Given the description of an element on the screen output the (x, y) to click on. 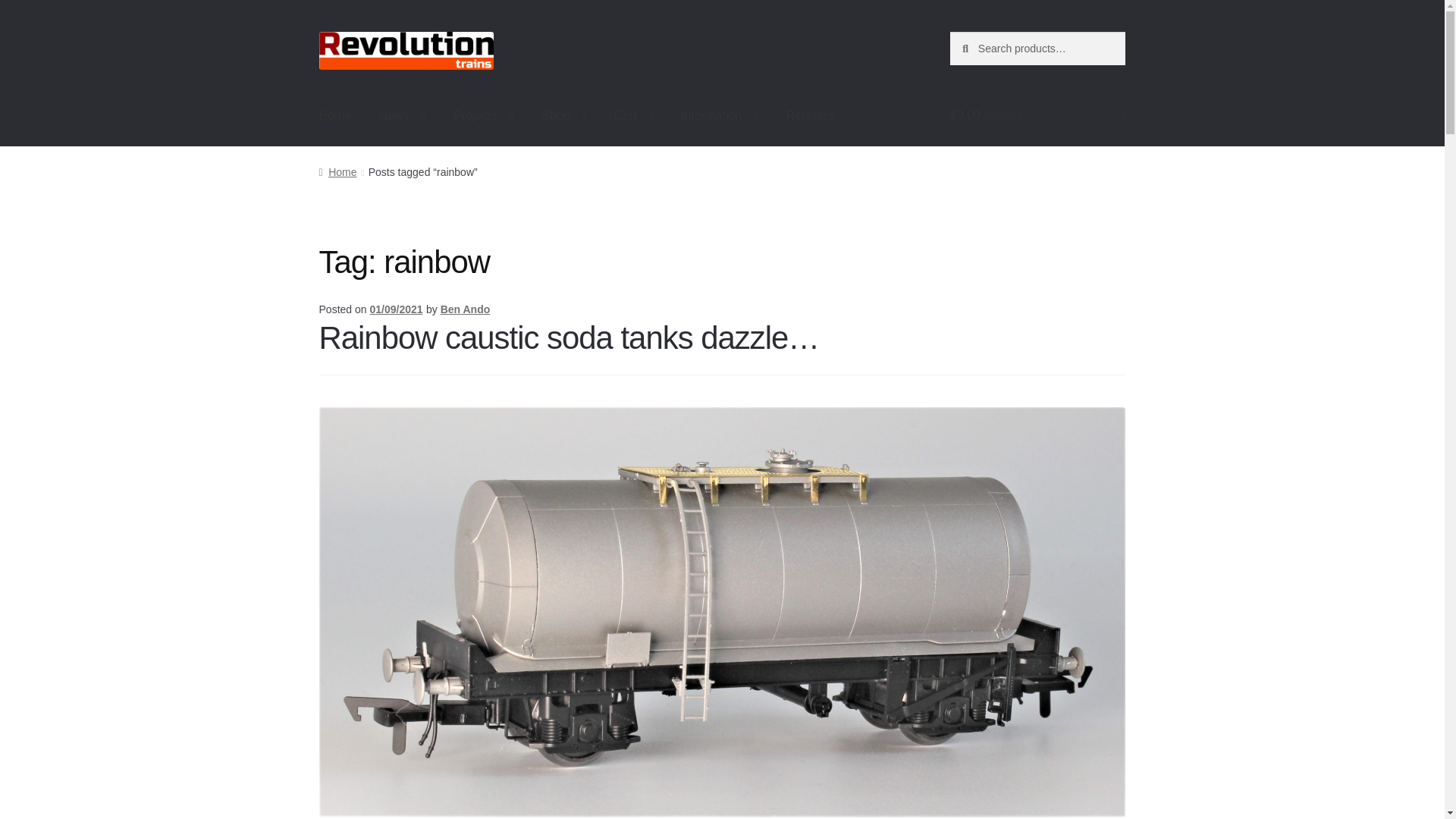
View your shopping basket (1037, 115)
News (402, 115)
Shop (563, 115)
Projects (483, 115)
Home (335, 115)
